Given the description of an element on the screen output the (x, y) to click on. 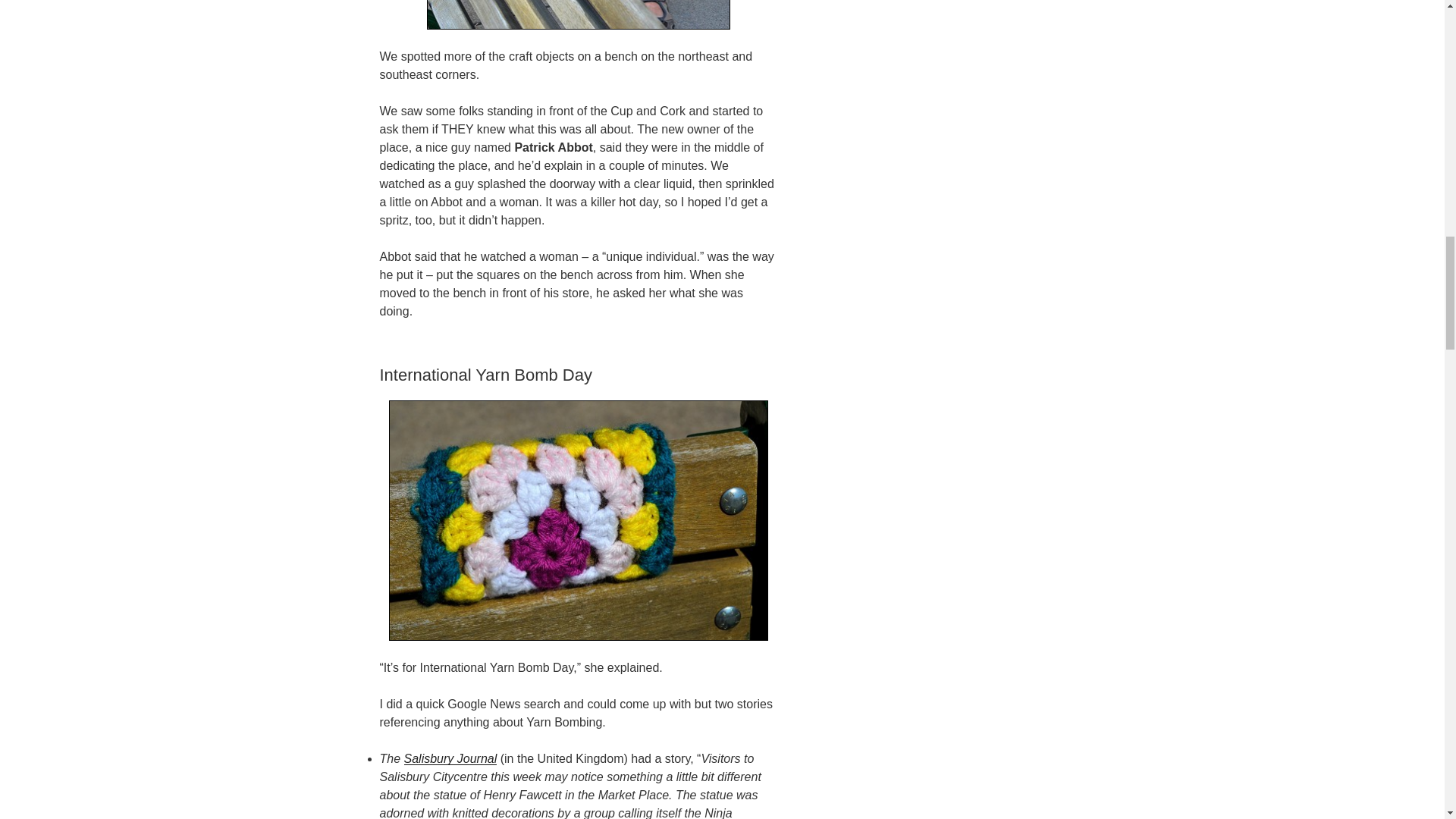
Story about Yarn Bombing Day (450, 758)
Salisbury Journal (450, 758)
